Given the description of an element on the screen output the (x, y) to click on. 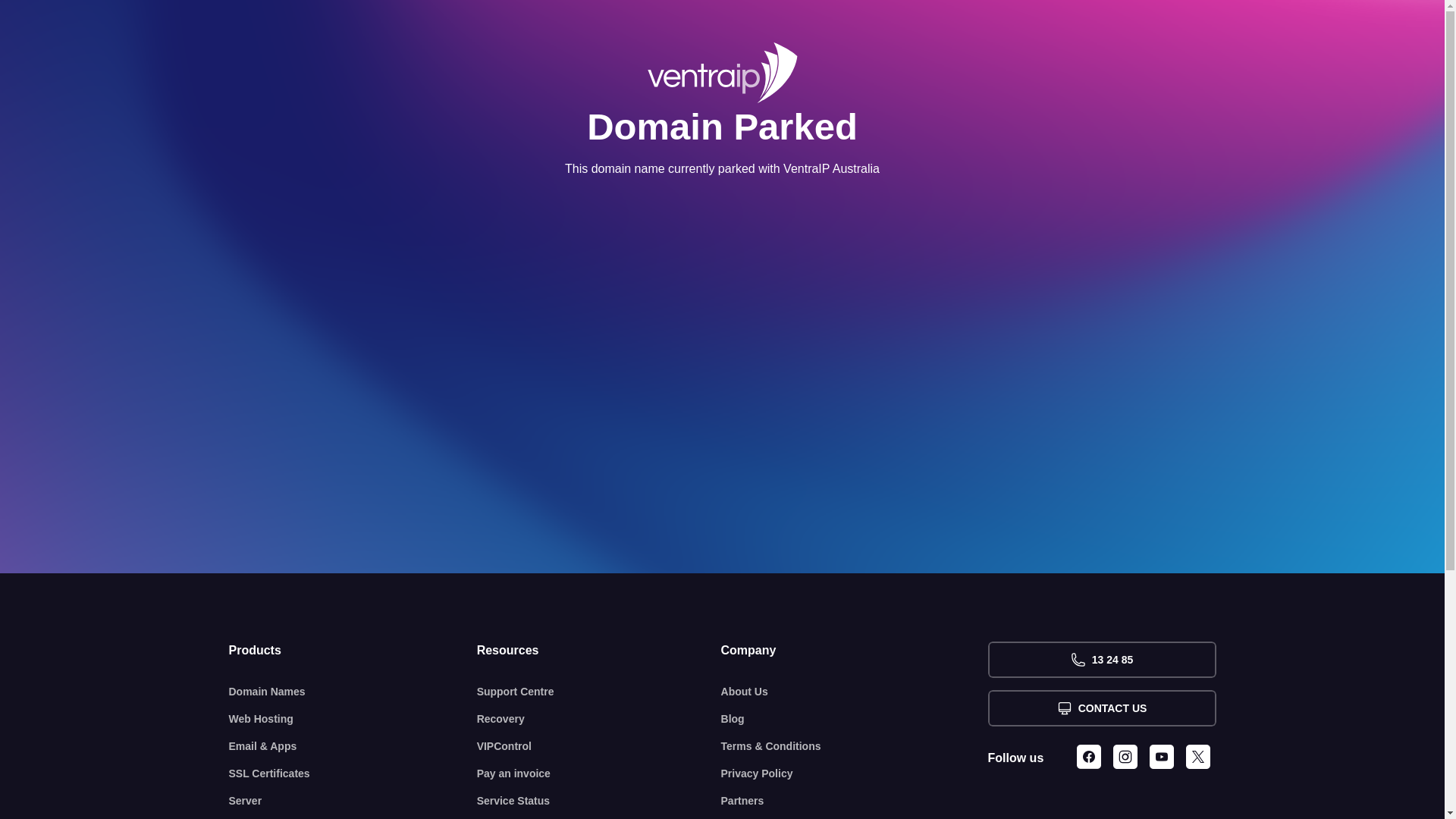
Support Centre Element type: text (598, 691)
Web Hosting Element type: text (352, 718)
Service Status Element type: text (598, 800)
Domain Names Element type: text (352, 691)
Blog Element type: text (854, 718)
SSL Certificates Element type: text (352, 773)
Recovery Element type: text (598, 718)
Privacy Policy Element type: text (854, 773)
Pay an invoice Element type: text (598, 773)
Email & Apps Element type: text (352, 745)
Partners Element type: text (854, 800)
CONTACT US Element type: text (1101, 708)
VIPControl Element type: text (598, 745)
13 24 85 Element type: text (1101, 659)
Terms & Conditions Element type: text (854, 745)
About Us Element type: text (854, 691)
Server Element type: text (352, 800)
